Given the description of an element on the screen output the (x, y) to click on. 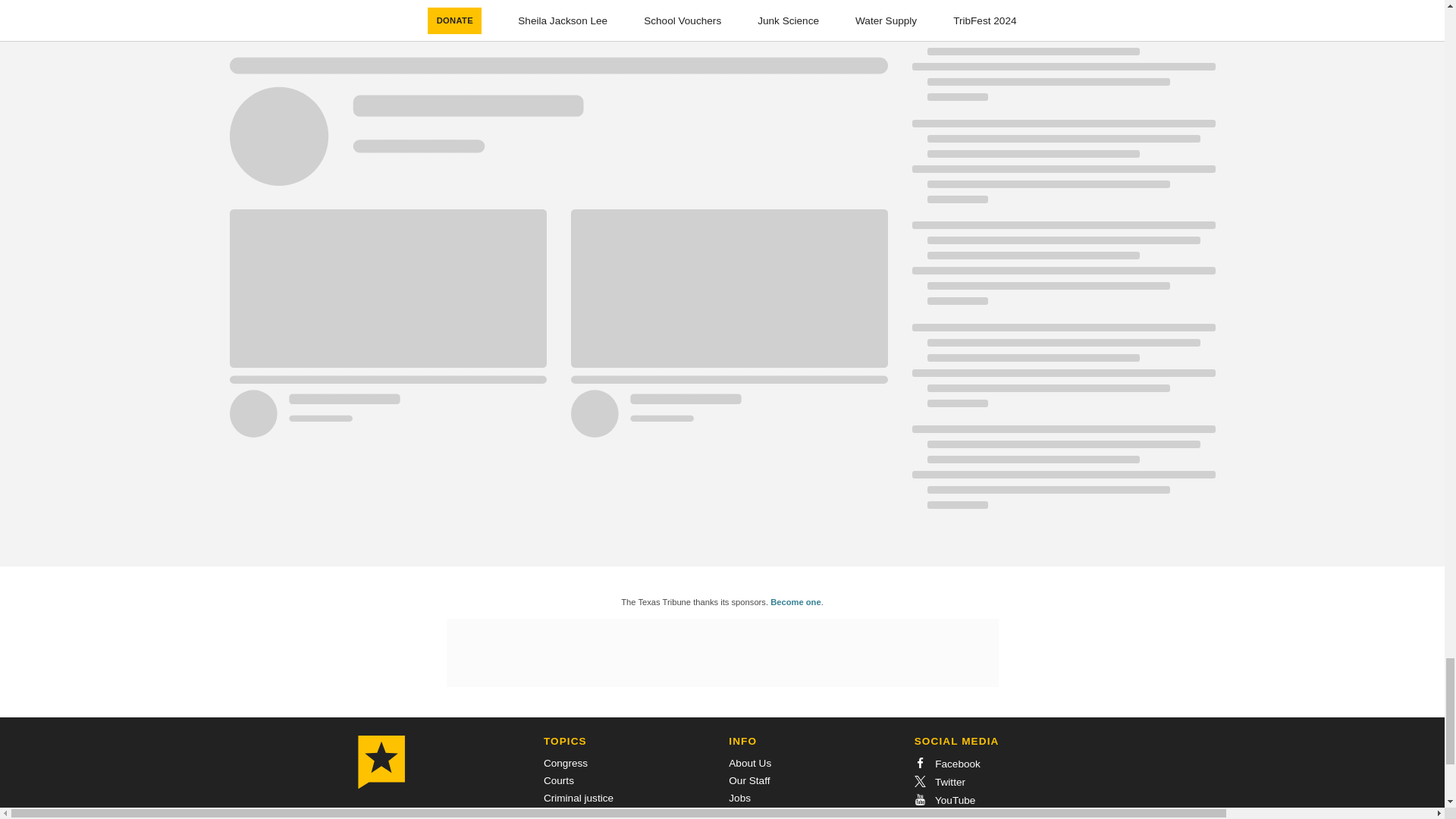
Who Funds Us? (765, 814)
About Us (750, 763)
